Given the description of an element on the screen output the (x, y) to click on. 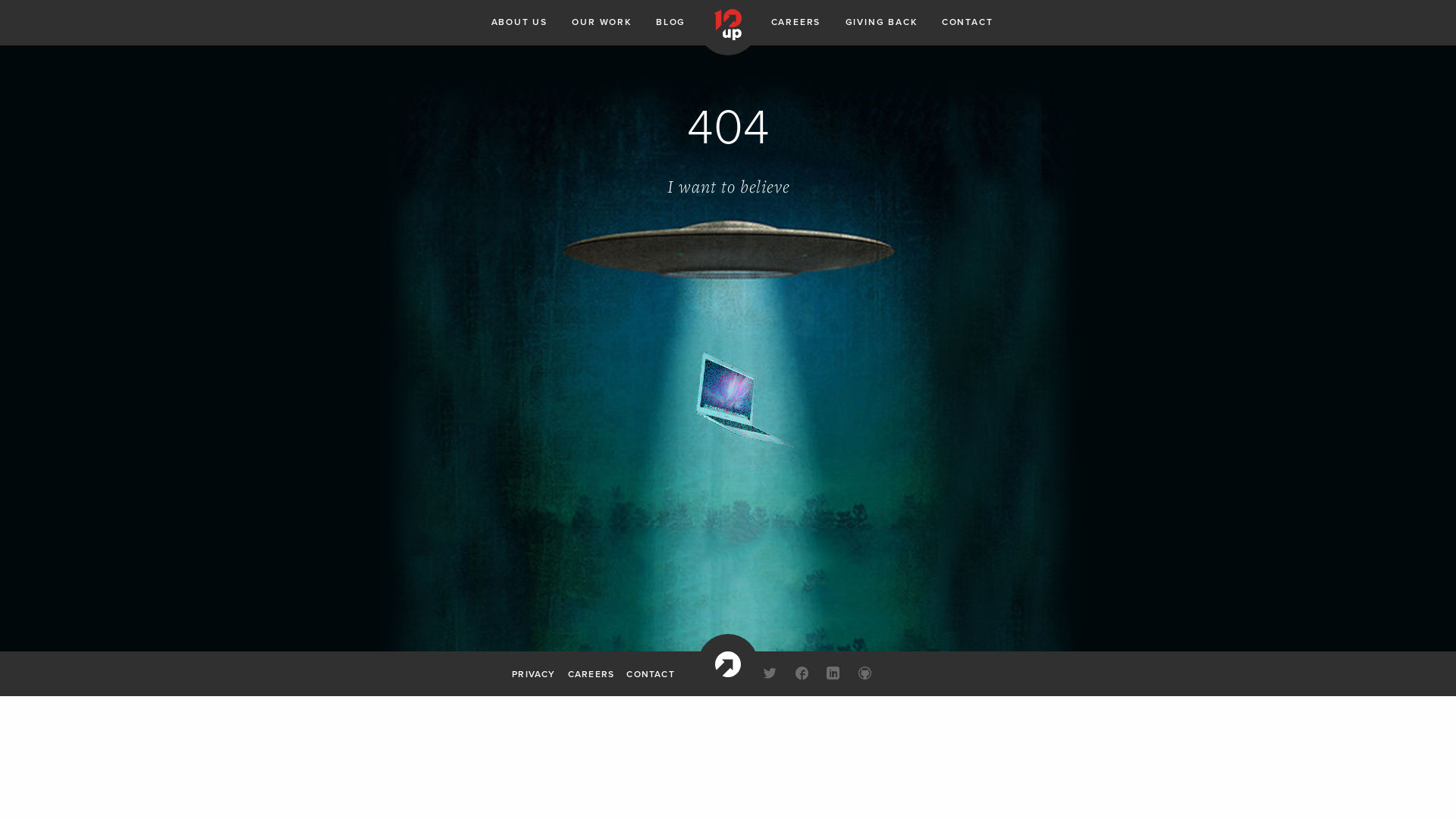
CAREERS Element type: text (796, 22)
GIVING BACK Element type: text (881, 22)
CONTACT Element type: text (967, 22)
FACEBOOK Element type: text (801, 674)
LINKEDIN Element type: text (833, 674)
GITHUB Element type: text (864, 674)
OUR WORK Element type: text (600, 22)
10up Element type: text (727, 663)
PRIVACY Element type: text (533, 673)
TWITTER: @10UP Element type: text (770, 674)
BLOG Element type: text (670, 22)
CONTACT Element type: text (650, 673)
ABOUT US Element type: text (519, 22)
CAREERS Element type: text (590, 673)
